Given the description of an element on the screen output the (x, y) to click on. 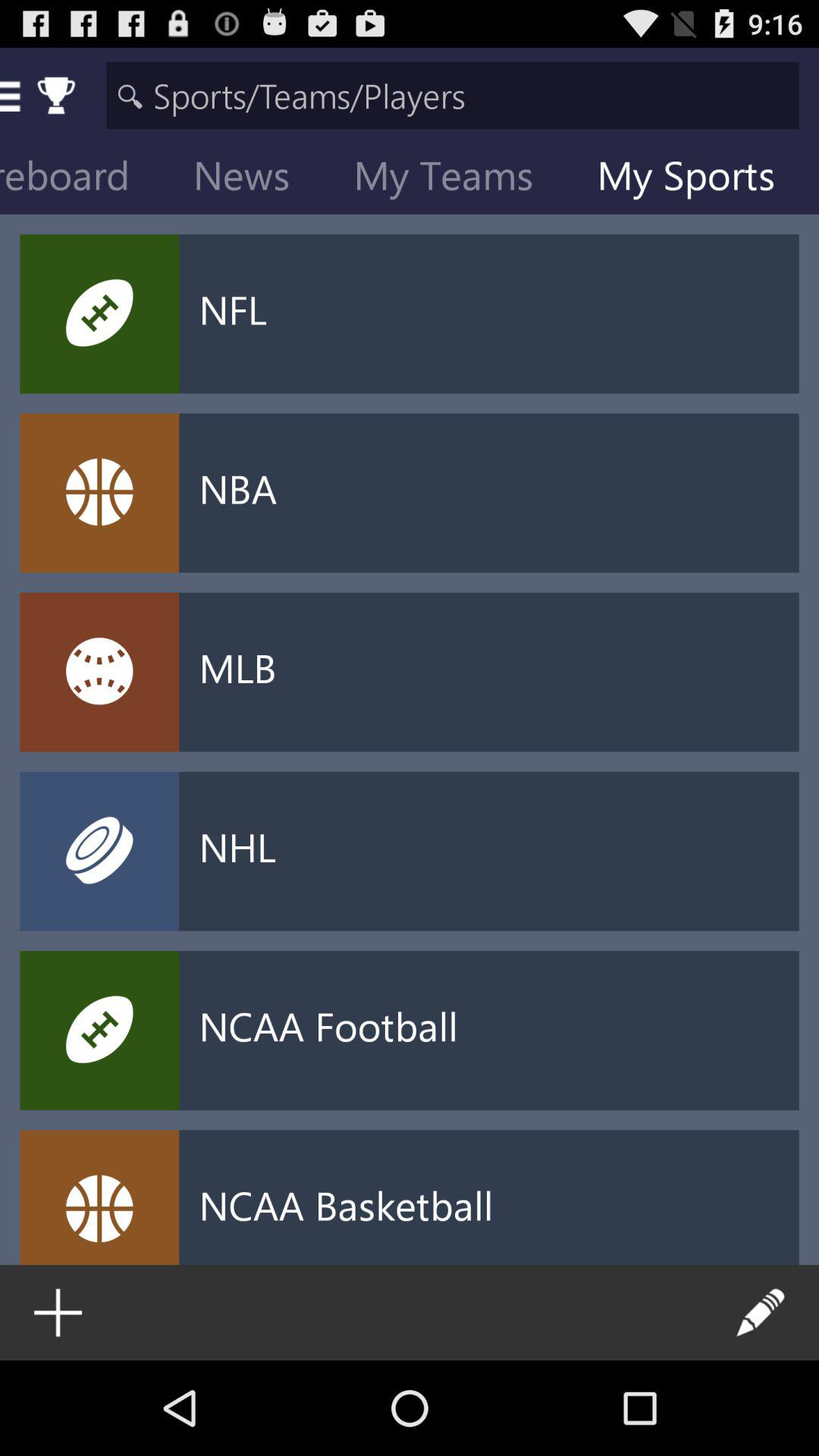
click the item next to the my teams item (253, 178)
